Given the description of an element on the screen output the (x, y) to click on. 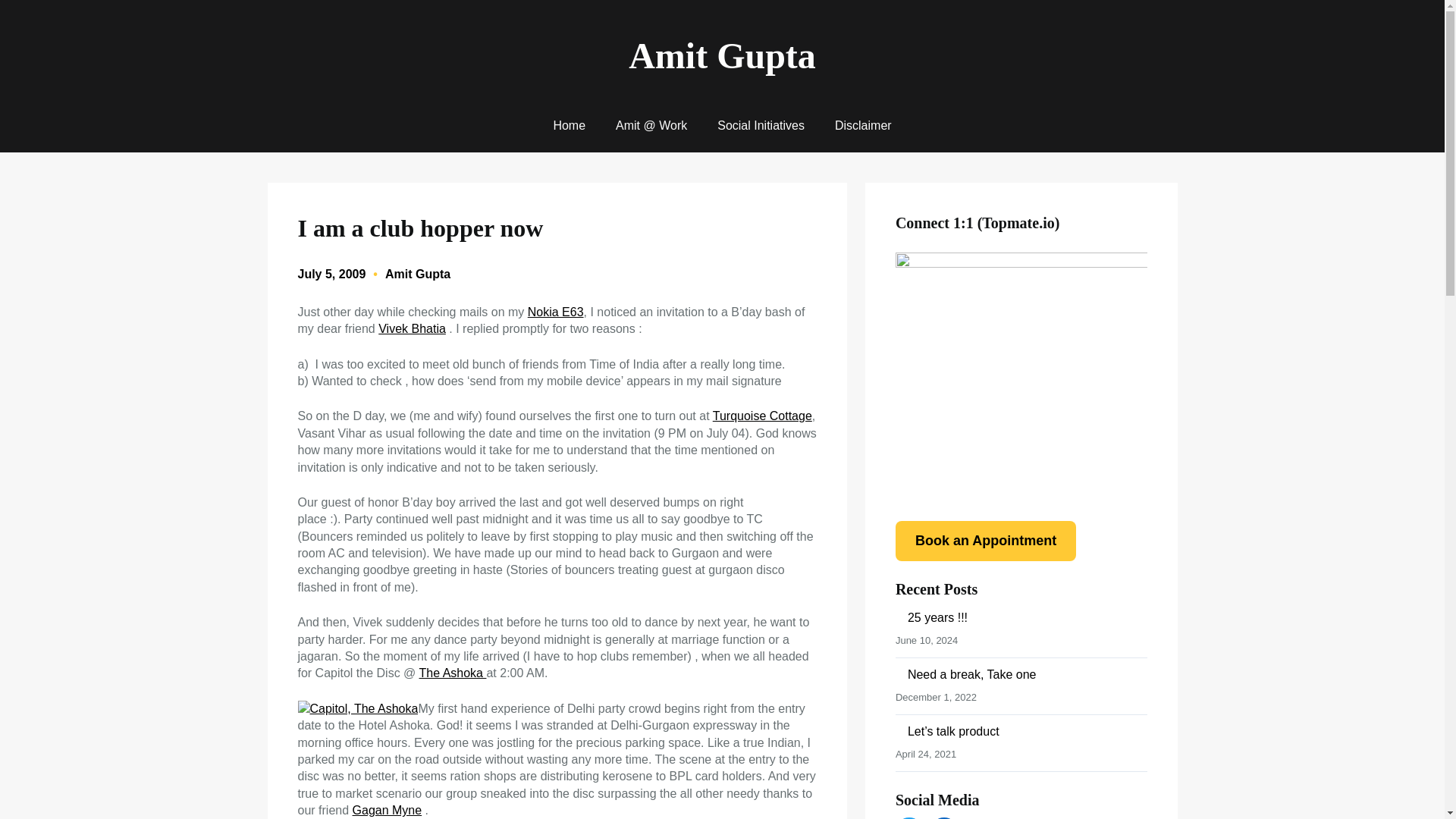
The Ashoka (452, 672)
Amit Gupta (721, 56)
Home (569, 125)
Amit Gupta (417, 273)
Turquoise Cottage (762, 415)
LinkedIn (944, 818)
Capitol, The Ashoka (357, 709)
25 years !!! (937, 617)
Nokia E63 (555, 311)
Need a break, Take one (971, 674)
